Given the description of an element on the screen output the (x, y) to click on. 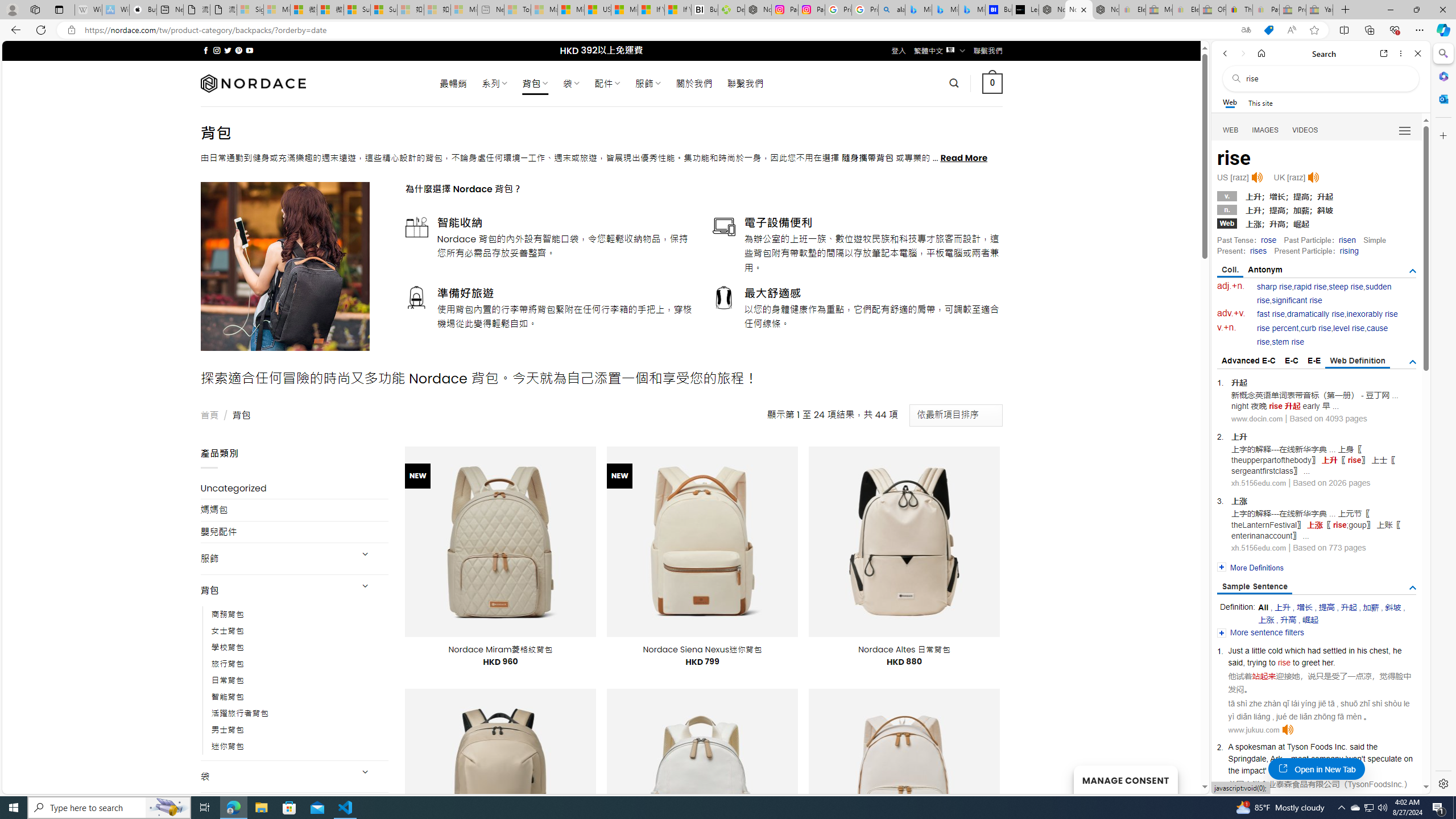
www.jukuu.com (1253, 729)
  0   (992, 83)
Follow on Twitter (227, 50)
WEB (1231, 130)
Based on 2026 pages (1331, 483)
